Given the description of an element on the screen output the (x, y) to click on. 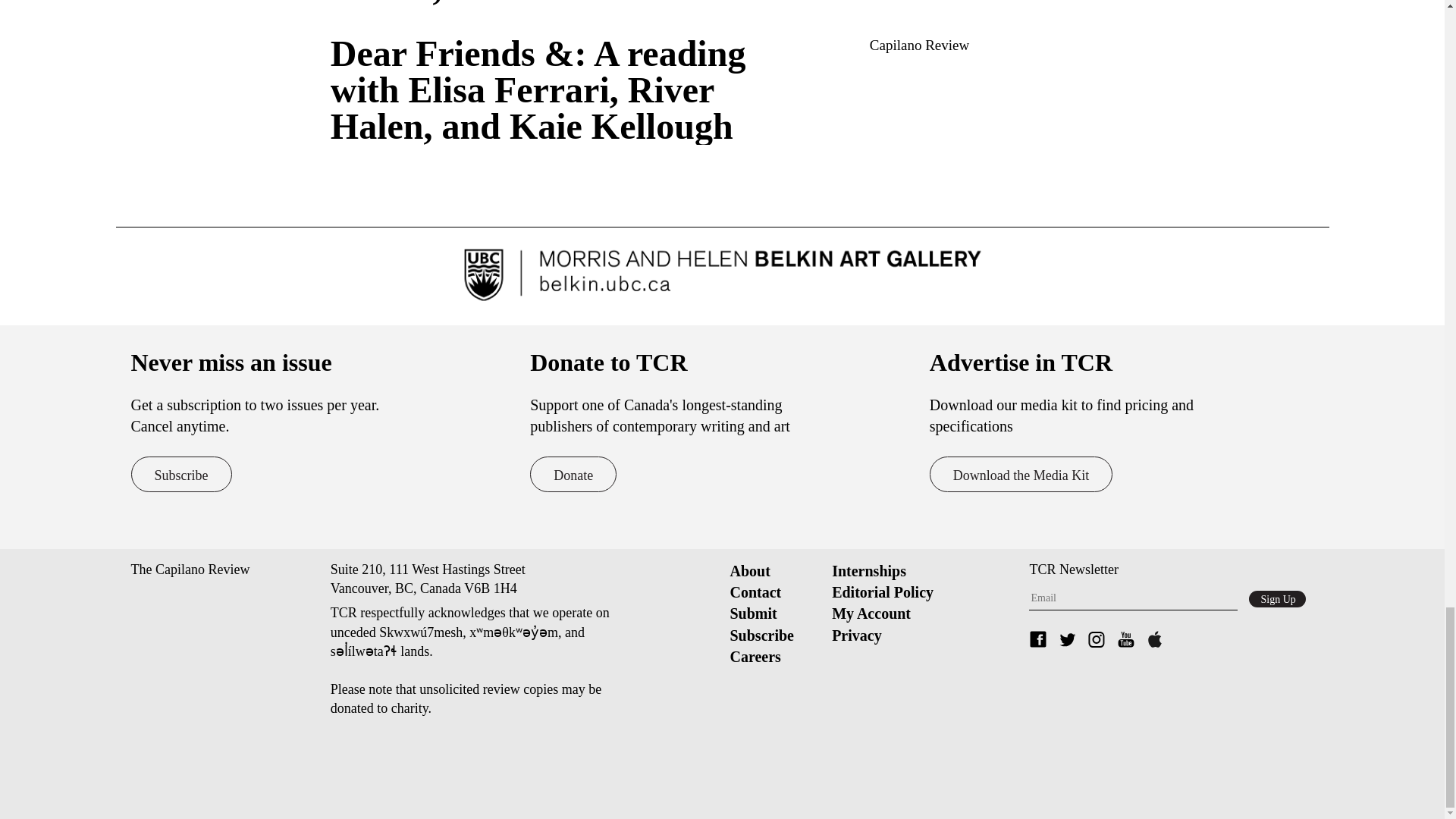
Download the Media Kit (1021, 474)
Donate (572, 474)
Posts by Capilano Review (919, 44)
Capilano Review (919, 44)
Submit (752, 613)
Subscribe (181, 474)
Subscribe (761, 635)
Contact (754, 591)
The Capilano Review (189, 569)
About (749, 570)
